Given the description of an element on the screen output the (x, y) to click on. 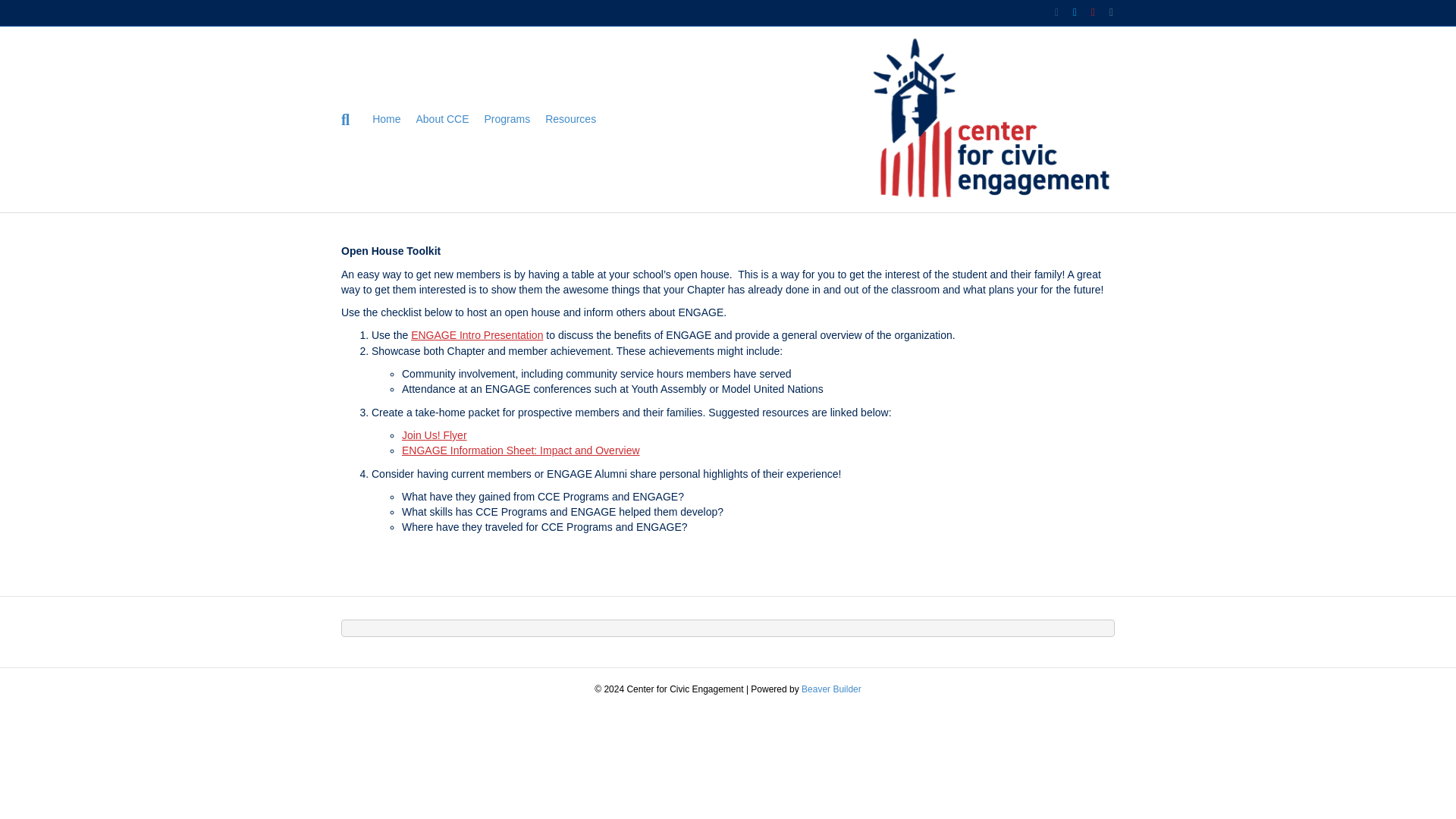
Home (386, 119)
Resources (570, 119)
Programs (507, 119)
About CCE (441, 119)
Instagram (1103, 11)
Twitter (1067, 11)
WordPress Page Builder Plugin (831, 688)
Pinterest (1085, 11)
Facebook (1049, 11)
